Given the description of an element on the screen output the (x, y) to click on. 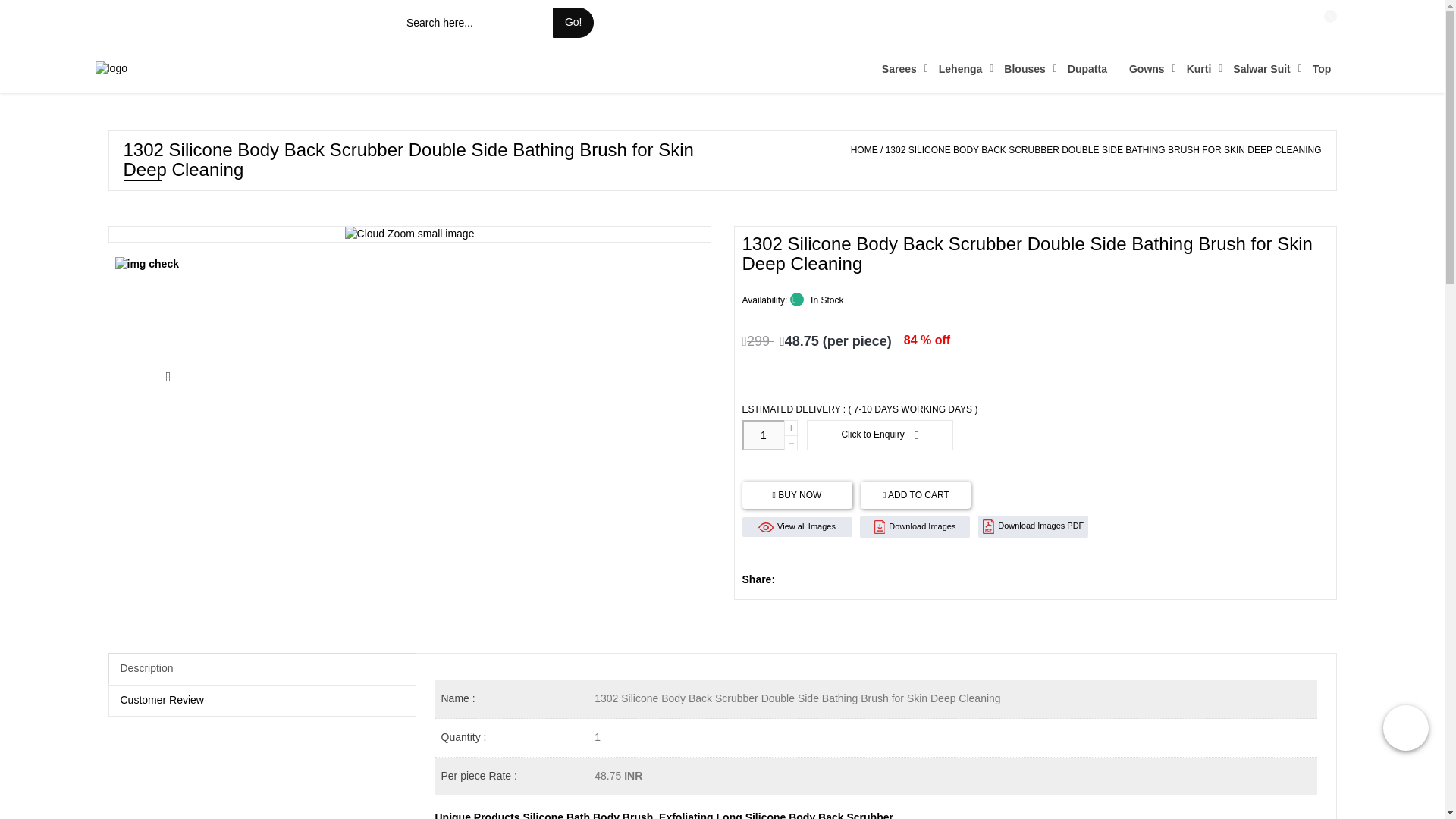
Help (1279, 22)
INR (375, 22)
Sarees (900, 68)
Go! (573, 22)
1 (1336, 21)
